Given the description of an element on the screen output the (x, y) to click on. 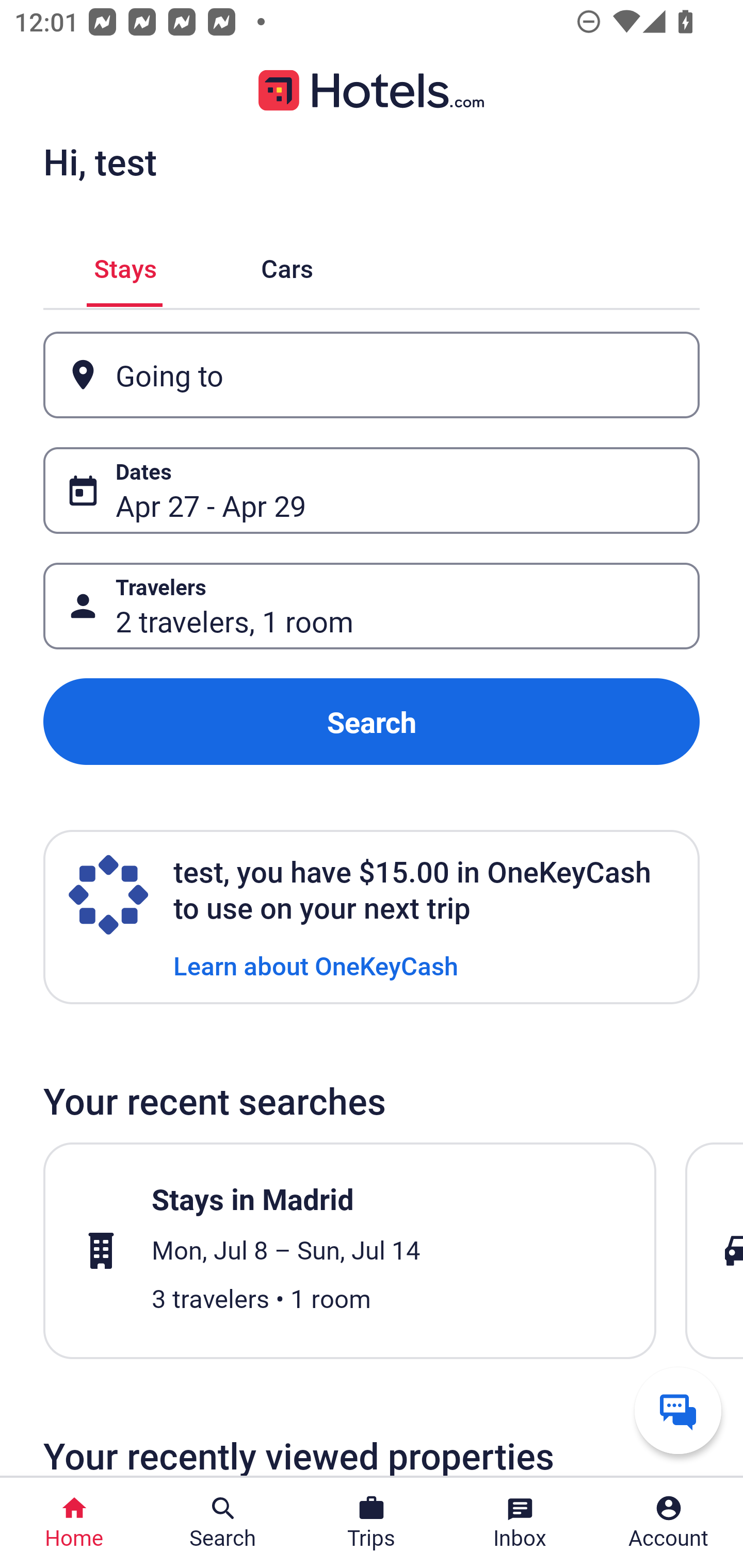
Hi, test (99, 161)
Cars (286, 265)
Going to Button (371, 375)
Dates Button Apr 27 - Apr 29 (371, 489)
Travelers Button 2 travelers, 1 room (371, 605)
Search (371, 721)
Learn about OneKeyCash Learn about OneKeyCash Link (315, 964)
Get help from a virtual agent (677, 1410)
Search Search Button (222, 1522)
Trips Trips Button (371, 1522)
Inbox Inbox Button (519, 1522)
Account Profile. Button (668, 1522)
